Given the description of an element on the screen output the (x, y) to click on. 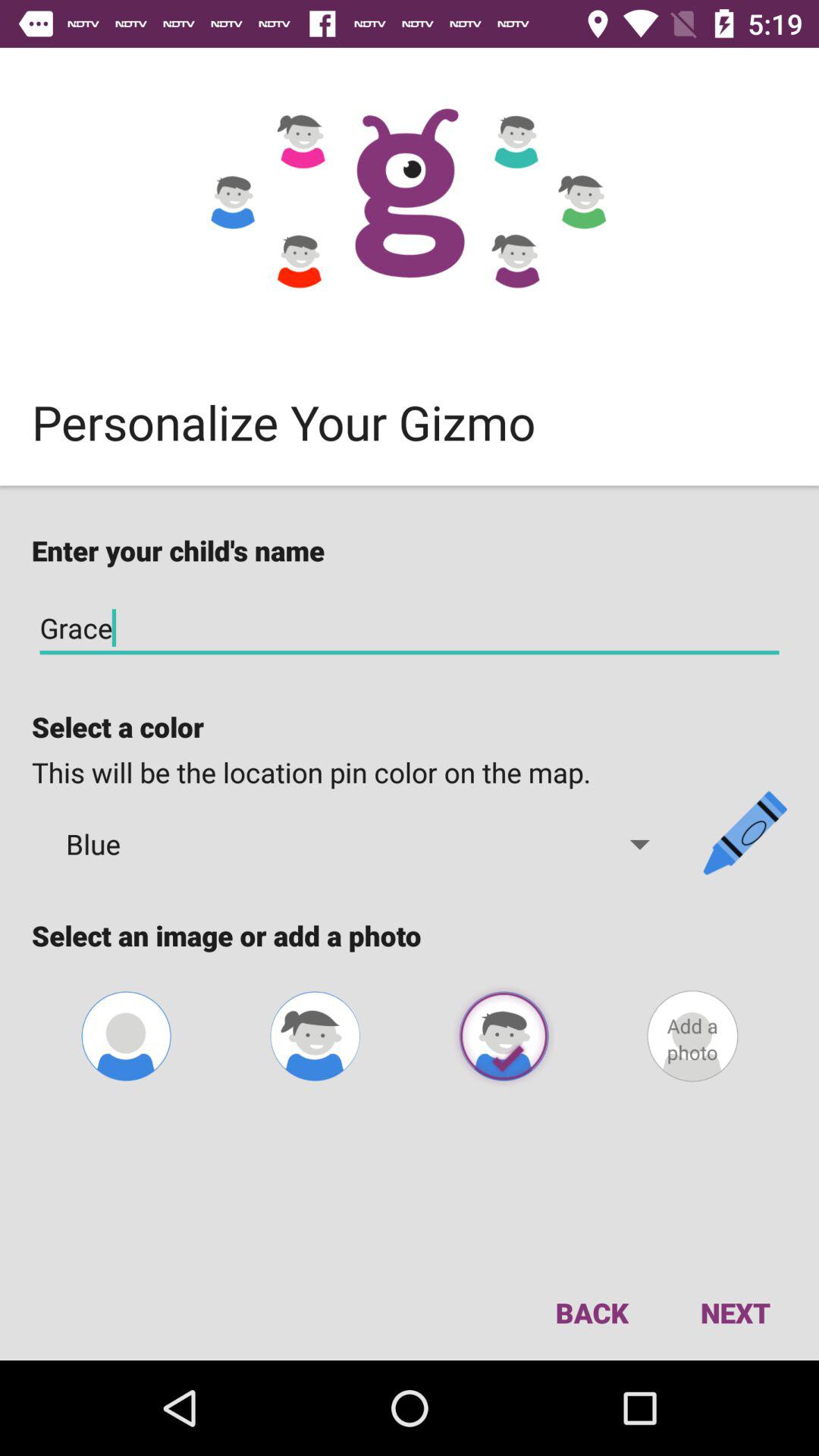
add a photo (692, 1036)
